Given the description of an element on the screen output the (x, y) to click on. 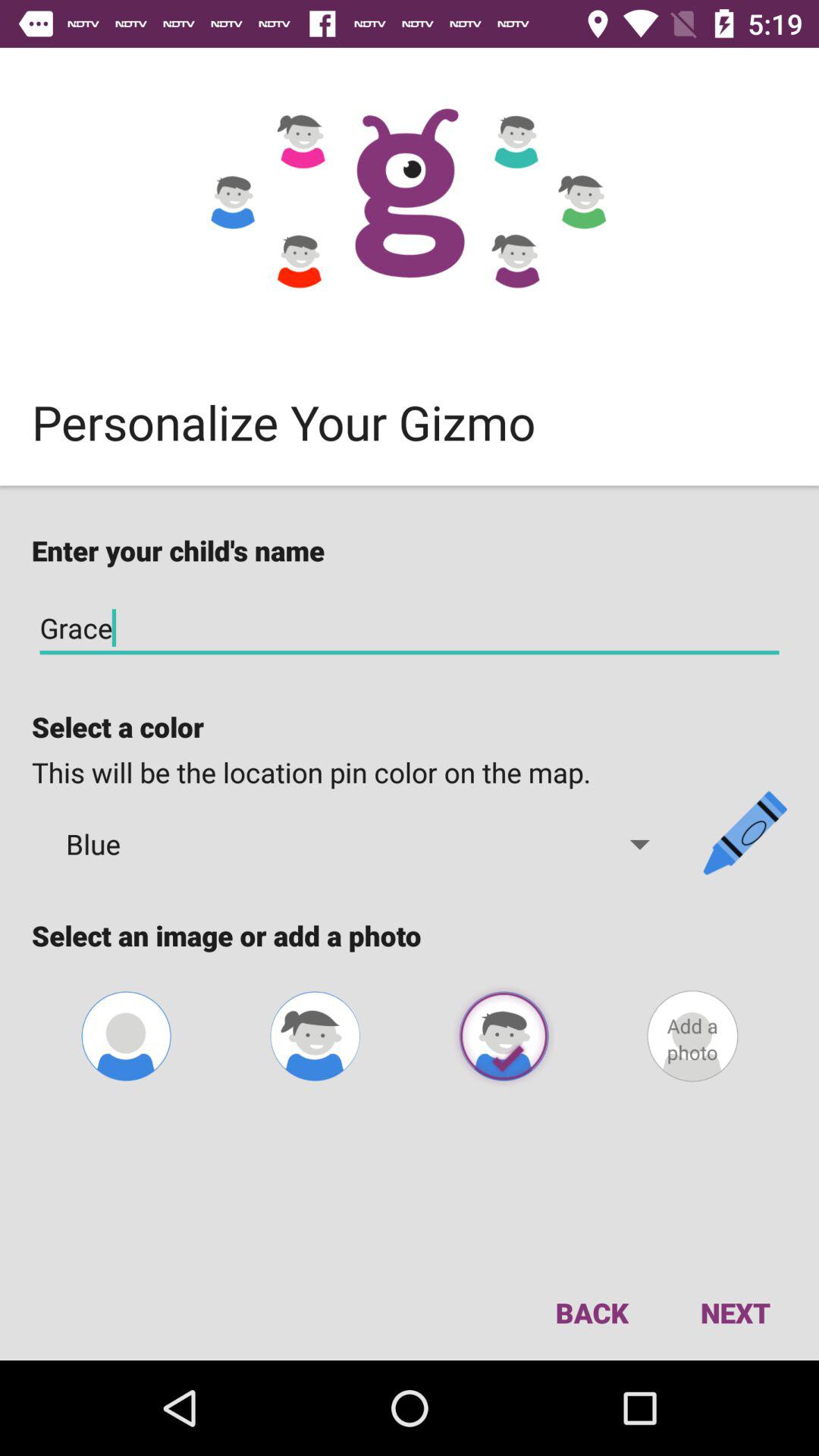
add a photo (692, 1036)
